Given the description of an element on the screen output the (x, y) to click on. 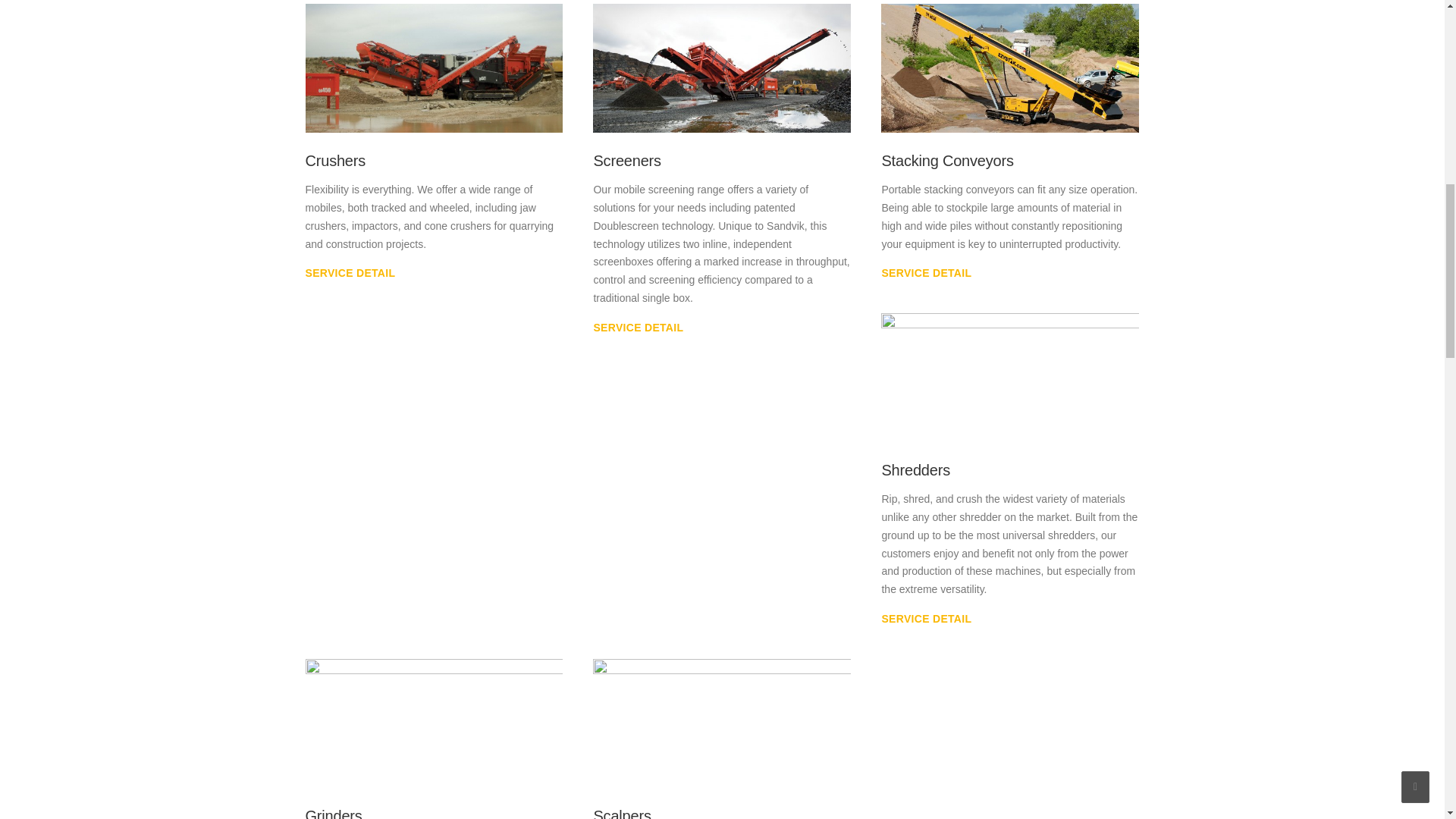
Scalpers (621, 813)
SERVICE DETAIL (637, 327)
SERVICE DETAIL (925, 618)
Screeners (626, 160)
Crushers (334, 160)
Stacking Conveyors (1009, 67)
Crushers (433, 67)
SERVICE DETAIL (349, 272)
Grinders (332, 813)
Crushers (349, 272)
SERVICE DETAIL (925, 272)
Stacking Conveyors (925, 272)
Stacking Conveyors (946, 160)
Shredders (914, 469)
Screeners (721, 67)
